Given the description of an element on the screen output the (x, y) to click on. 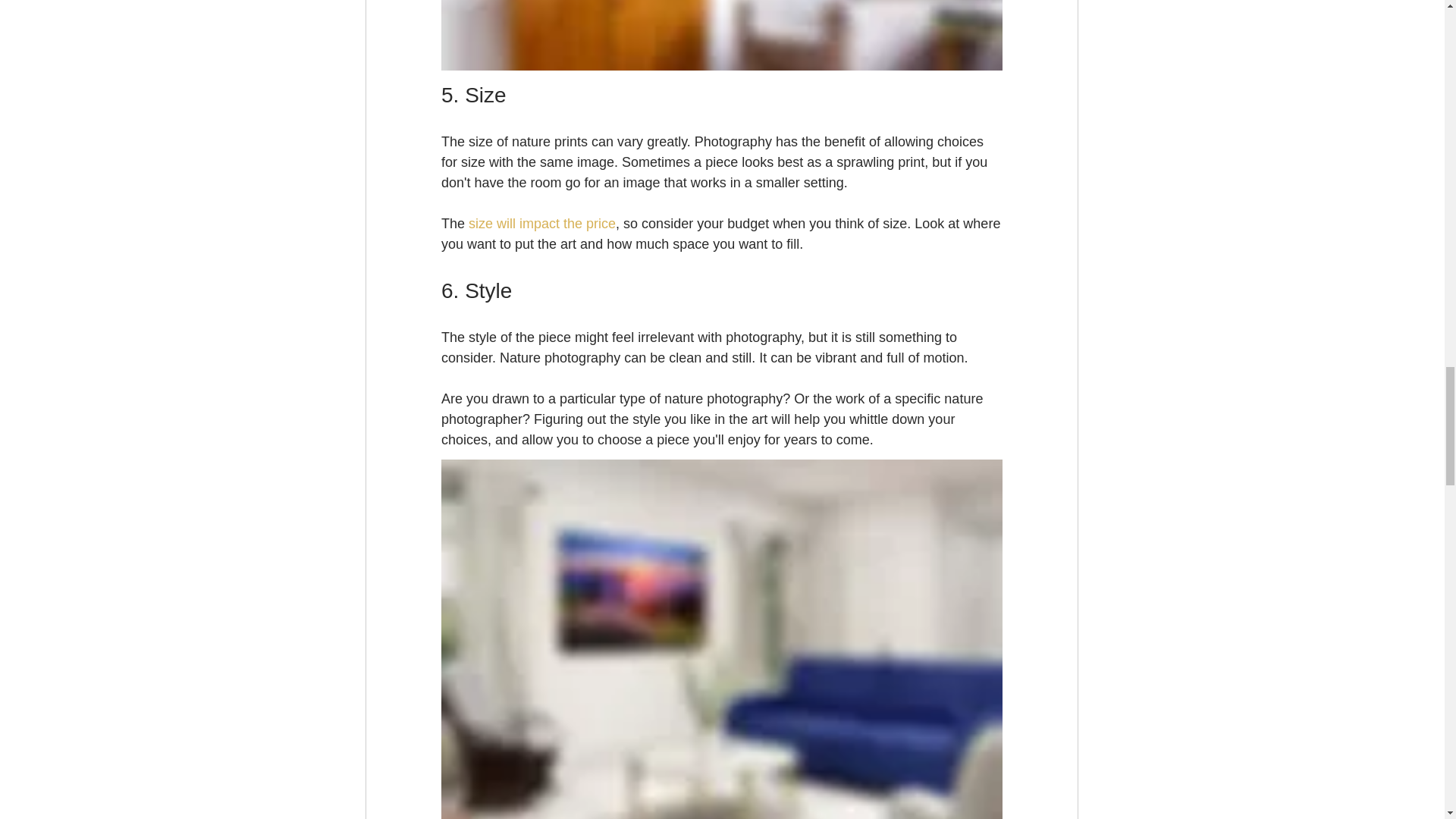
size will impact the price (541, 223)
